Given the description of an element on the screen output the (x, y) to click on. 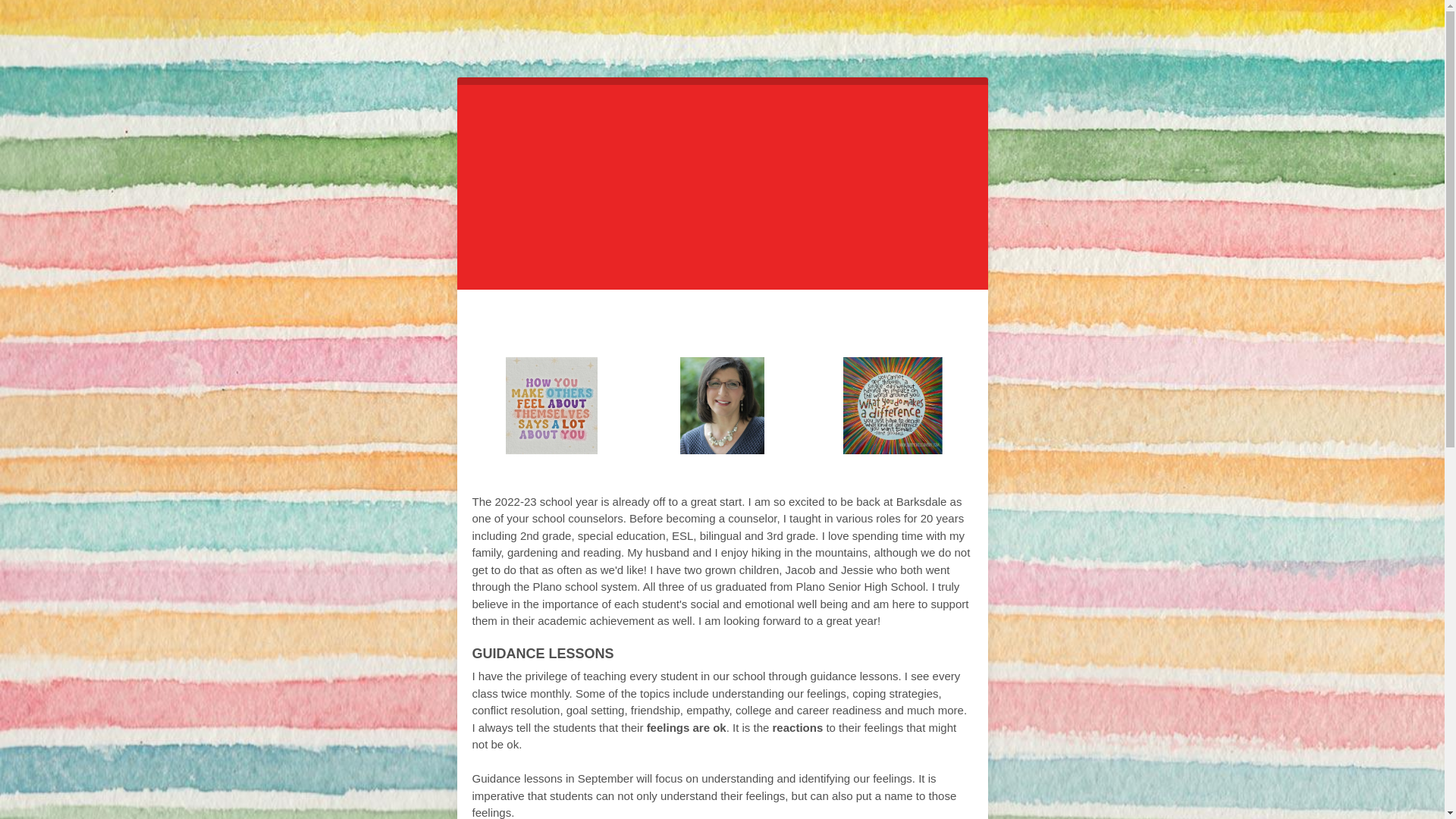
SCHNITZER (858, 316)
MRS. (782, 316)
COUNSELOR: (691, 316)
MEET (561, 316)
THE (607, 316)
